Given the description of an element on the screen output the (x, y) to click on. 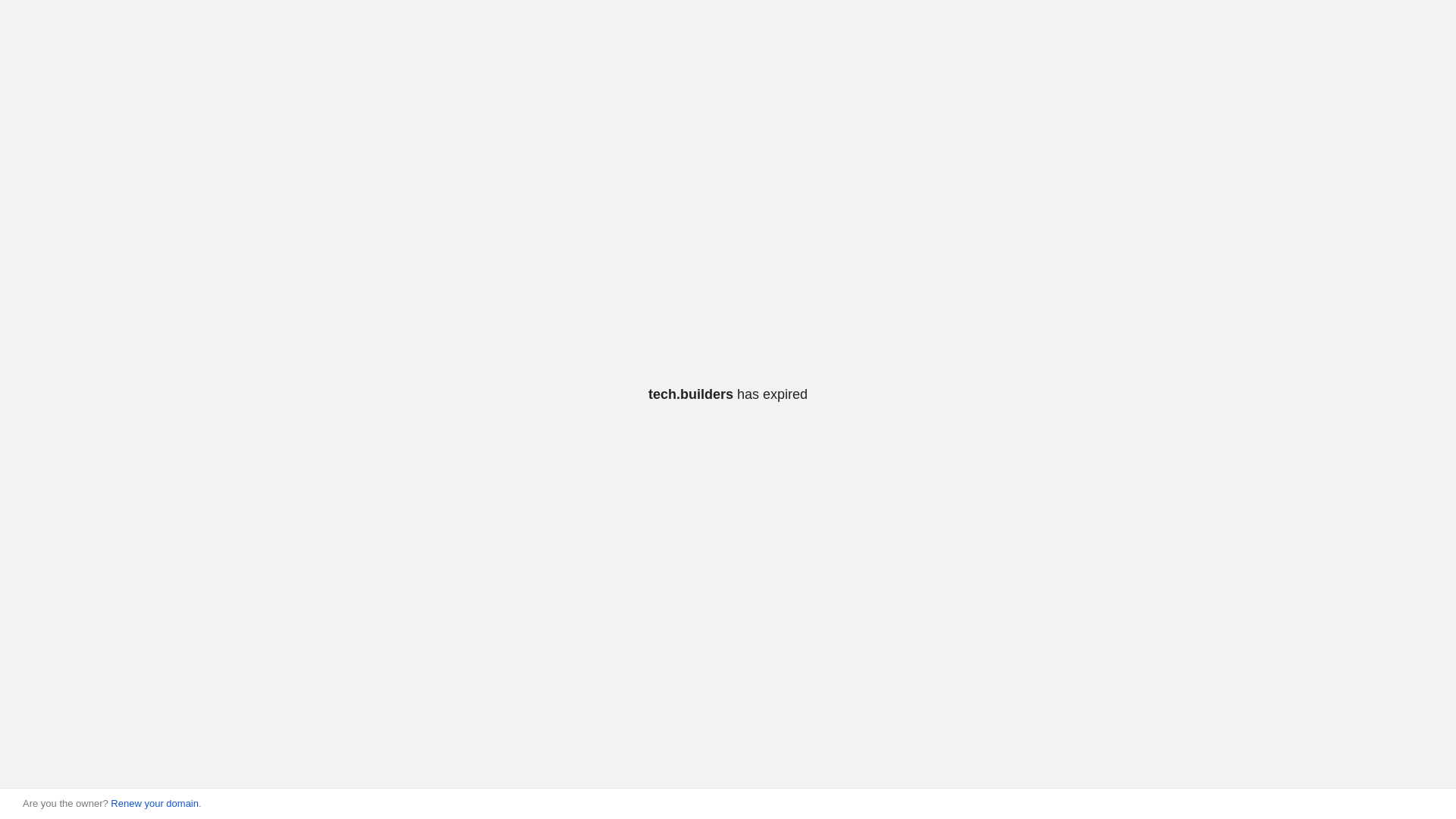
Renew your domain Element type: text (154, 803)
